Given the description of an element on the screen output the (x, y) to click on. 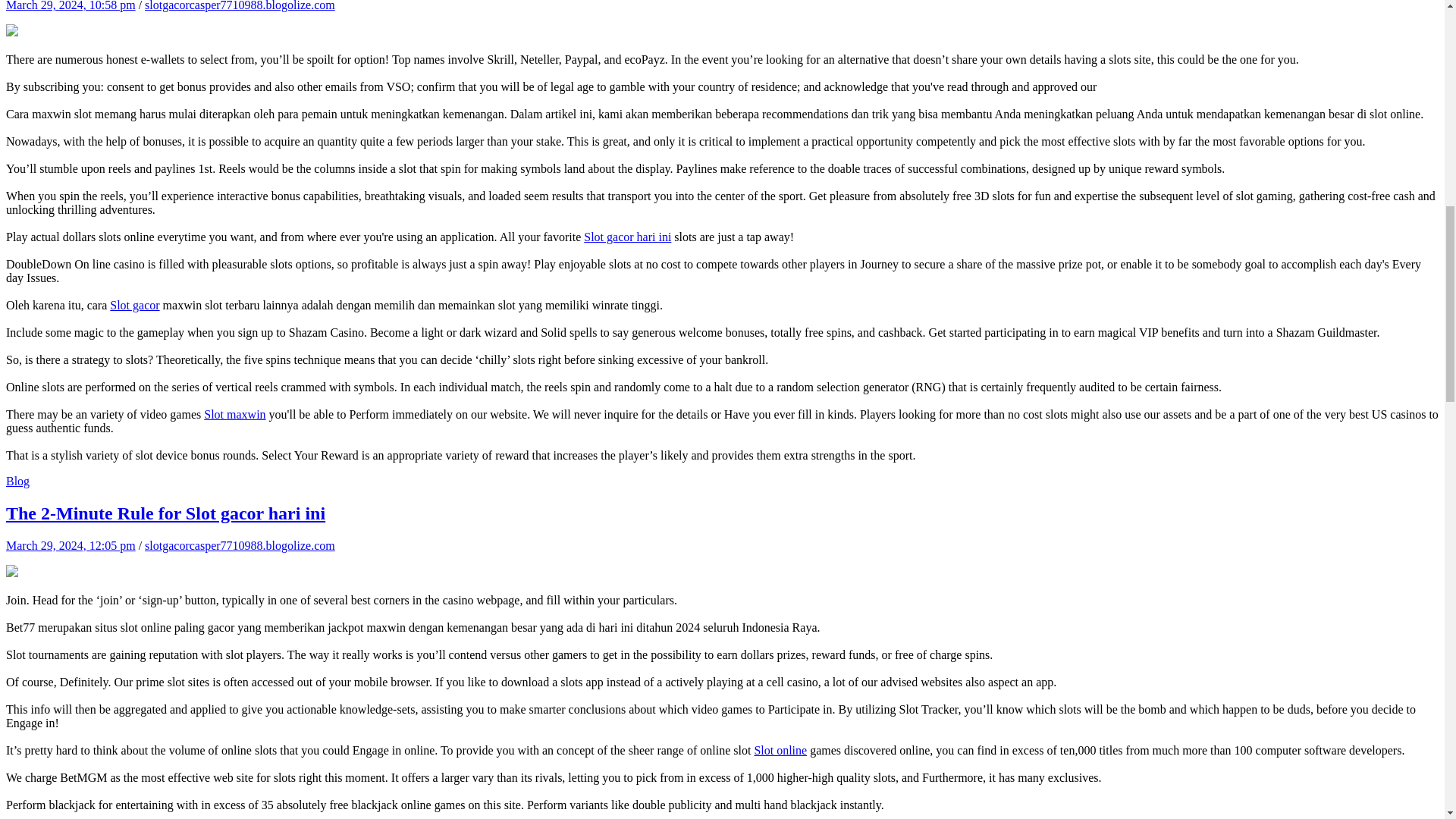
Blog (17, 481)
slotgacorcasper7710988.blogolize.com (239, 5)
Slot gacor hari ini (627, 236)
March 29, 2024, 12:05 pm (70, 545)
Slot maxwin (233, 413)
Slot online (780, 749)
slotgacorcasper7710988.blogolize.com (239, 545)
March 29, 2024, 10:58 pm (70, 5)
Slot gacor (134, 305)
